Given the description of an element on the screen output the (x, y) to click on. 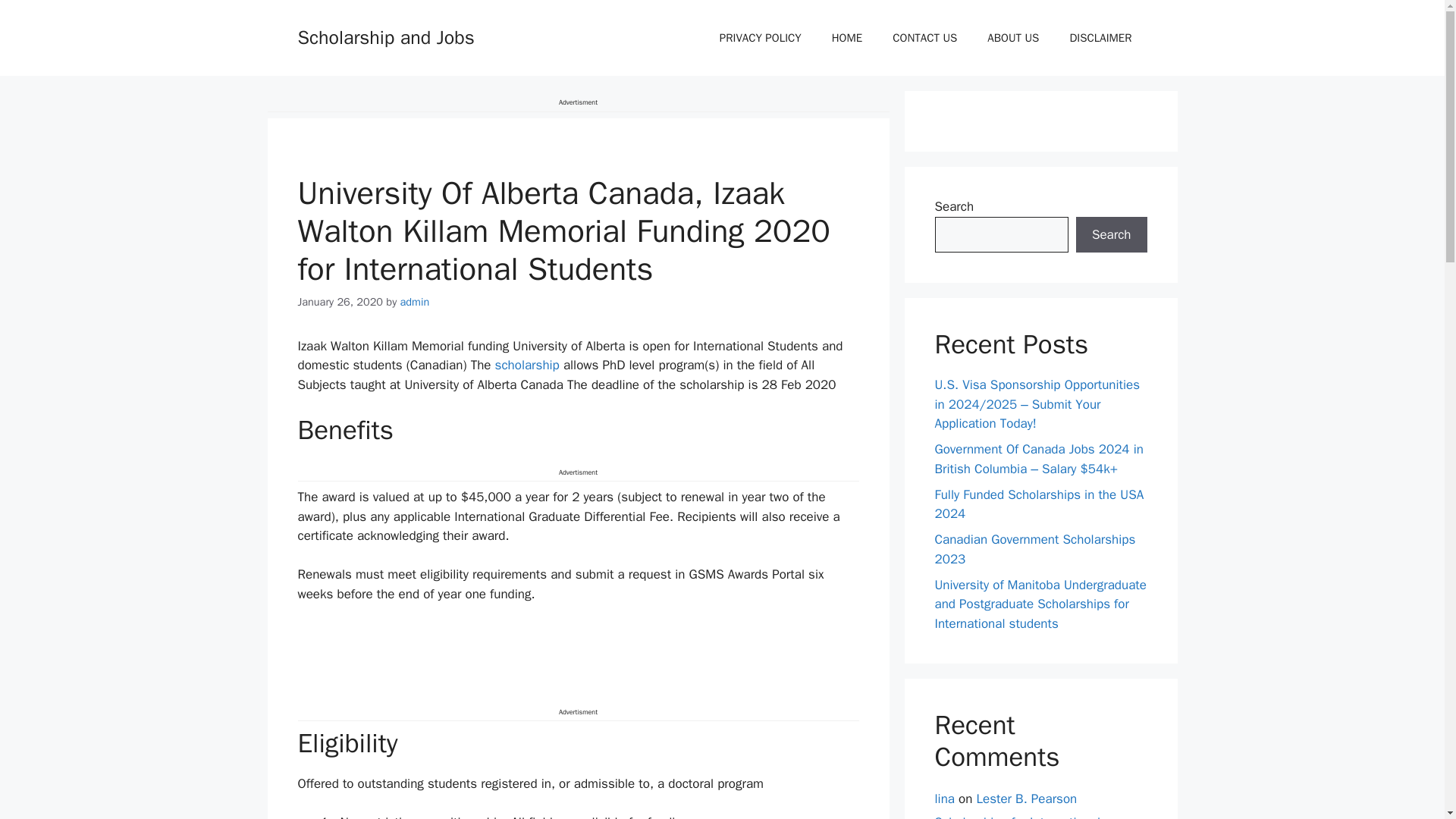
DISCLAIMER (1100, 37)
PRIVACY POLICY (760, 37)
lina (943, 798)
ABOUT US (1013, 37)
Fully Funded Scholarships in the USA 2024 (1038, 504)
HOME (846, 37)
Canadian Government Scholarships 2023 (1034, 549)
CONTACT US (924, 37)
Scholarship and Jobs (385, 37)
View all posts by admin (414, 301)
admin (414, 301)
Search (1111, 235)
scholarship (527, 365)
